Given the description of an element on the screen output the (x, y) to click on. 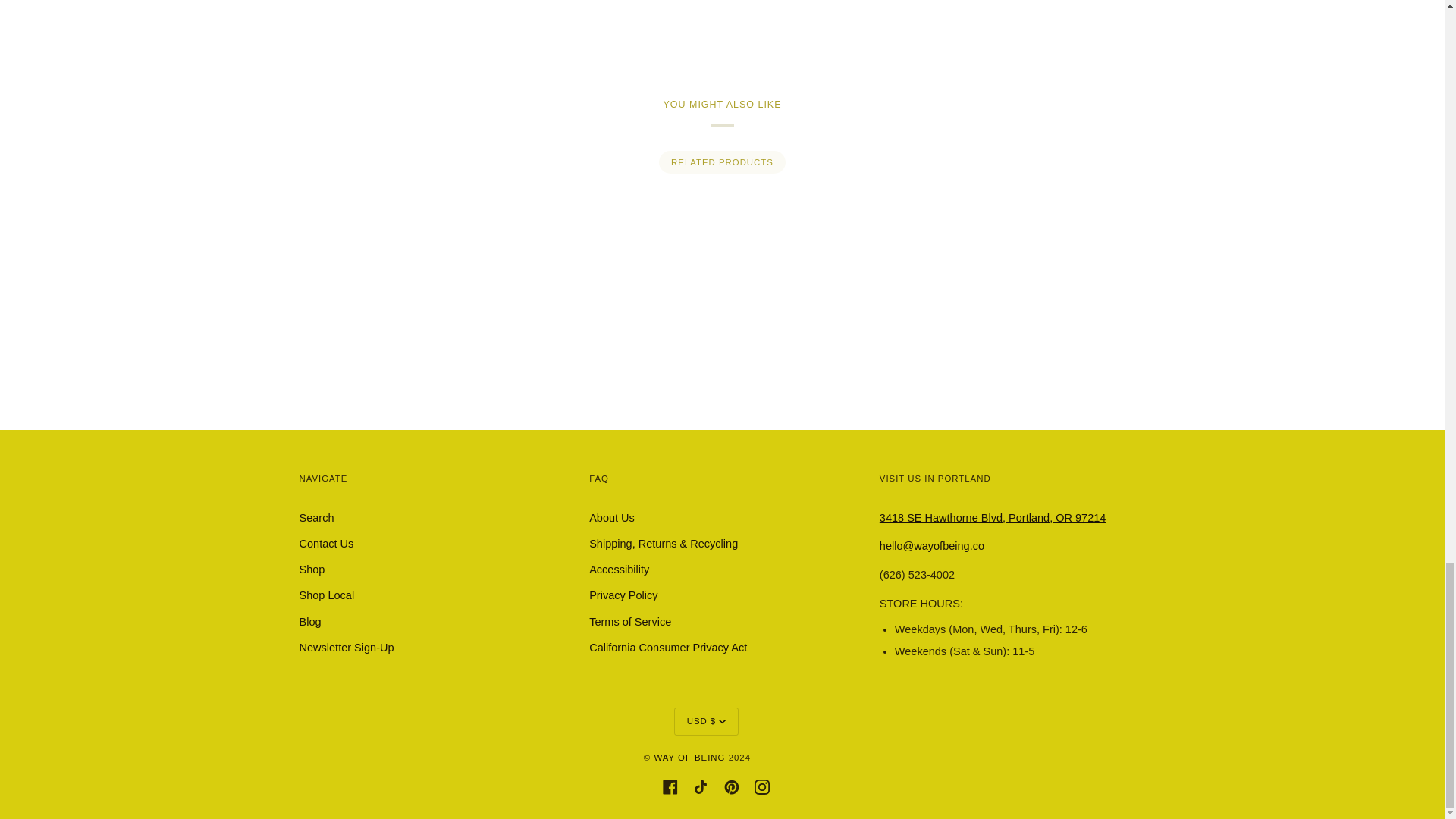
RELATED PRODUCTS (721, 161)
Instagram (762, 786)
Facebook (670, 786)
Pinterest (731, 786)
Tiktok (700, 786)
